Given the description of an element on the screen output the (x, y) to click on. 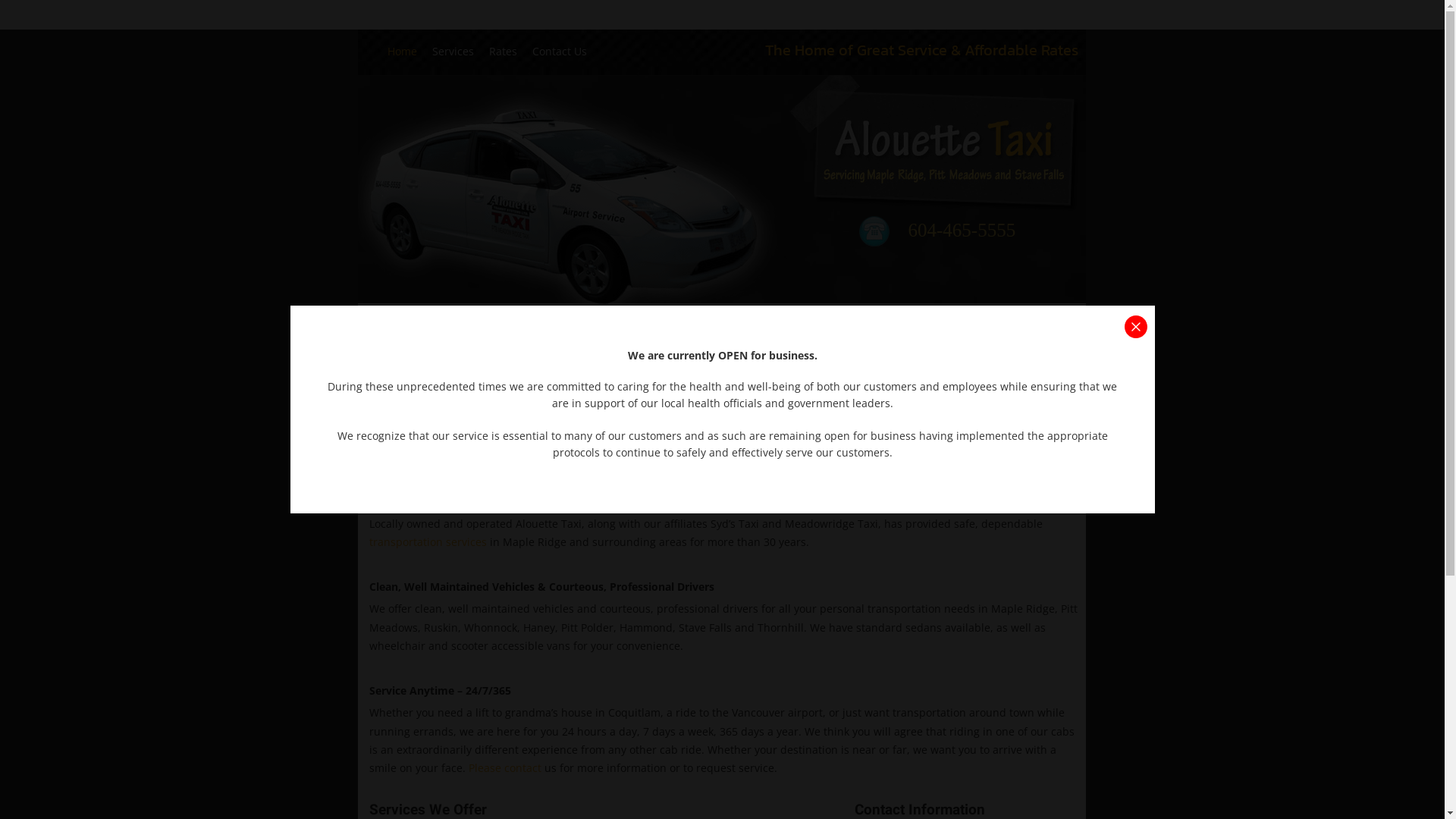
Contact Us Element type: text (559, 51)
Embedded Content Element type: hover (943, 22)
Rates Element type: text (502, 51)
Home Element type: text (401, 51)
Please contact Element type: text (503, 767)
Embedded Content Element type: hover (1069, 19)
604-465-5555 Element type: text (962, 229)
Services Element type: text (452, 51)
transportation services Element type: text (427, 541)
Back to site Element type: hover (1134, 326)
